Given the description of an element on the screen output the (x, y) to click on. 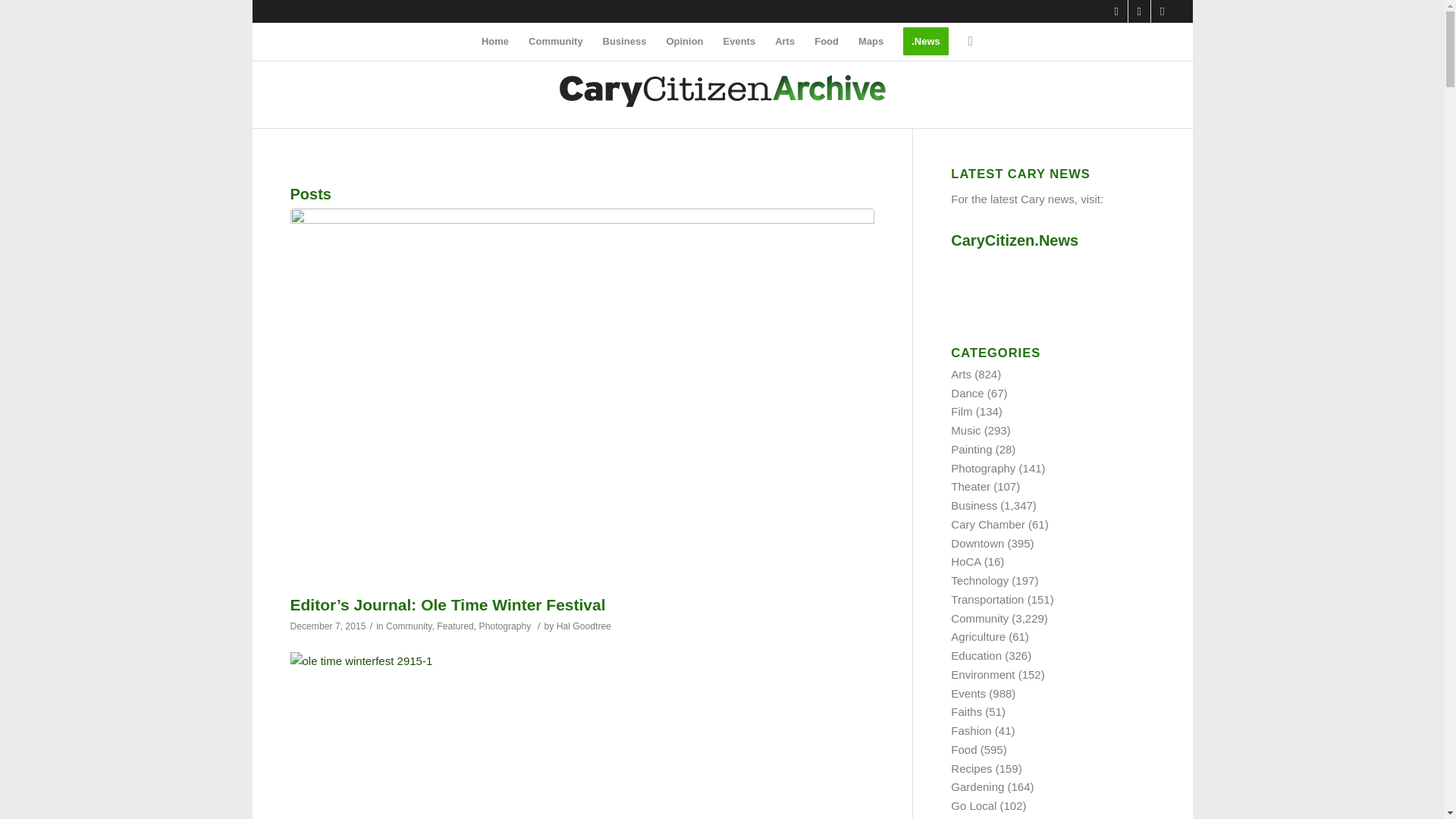
Food (826, 41)
Opinion (684, 41)
Business (624, 41)
Arts (785, 41)
Community (408, 625)
Photography (505, 625)
Hal Goodtree (583, 625)
Featured (455, 625)
Home (494, 41)
Maps (870, 41)
Community (555, 41)
Posts by Hal Goodtree (583, 625)
Events (739, 41)
